Given the description of an element on the screen output the (x, y) to click on. 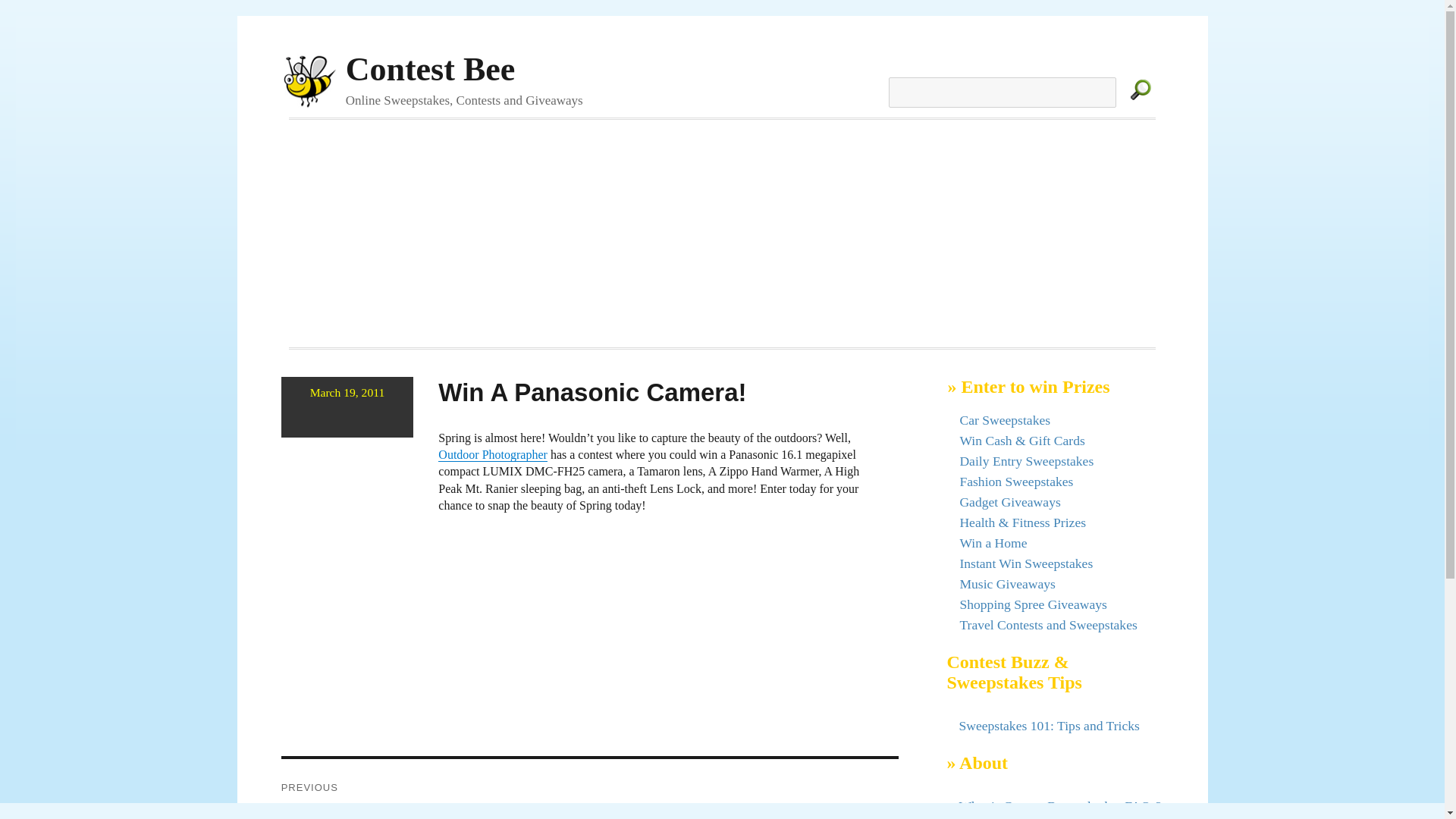
Win a Car! (1004, 419)
Win a Home (992, 542)
Win Music Related Prizes (1007, 583)
Enter these sweepstakes every day (1026, 460)
Win Cash! (1021, 440)
What is Contest.Bee and other FAQs? (1059, 806)
Sweepstakes Featuring Health and Fitness Prizes (1022, 522)
Daily Entry Sweepstakes (1026, 460)
Win Computers, Ipods and other gadgets (1009, 501)
